Given the description of an element on the screen output the (x, y) to click on. 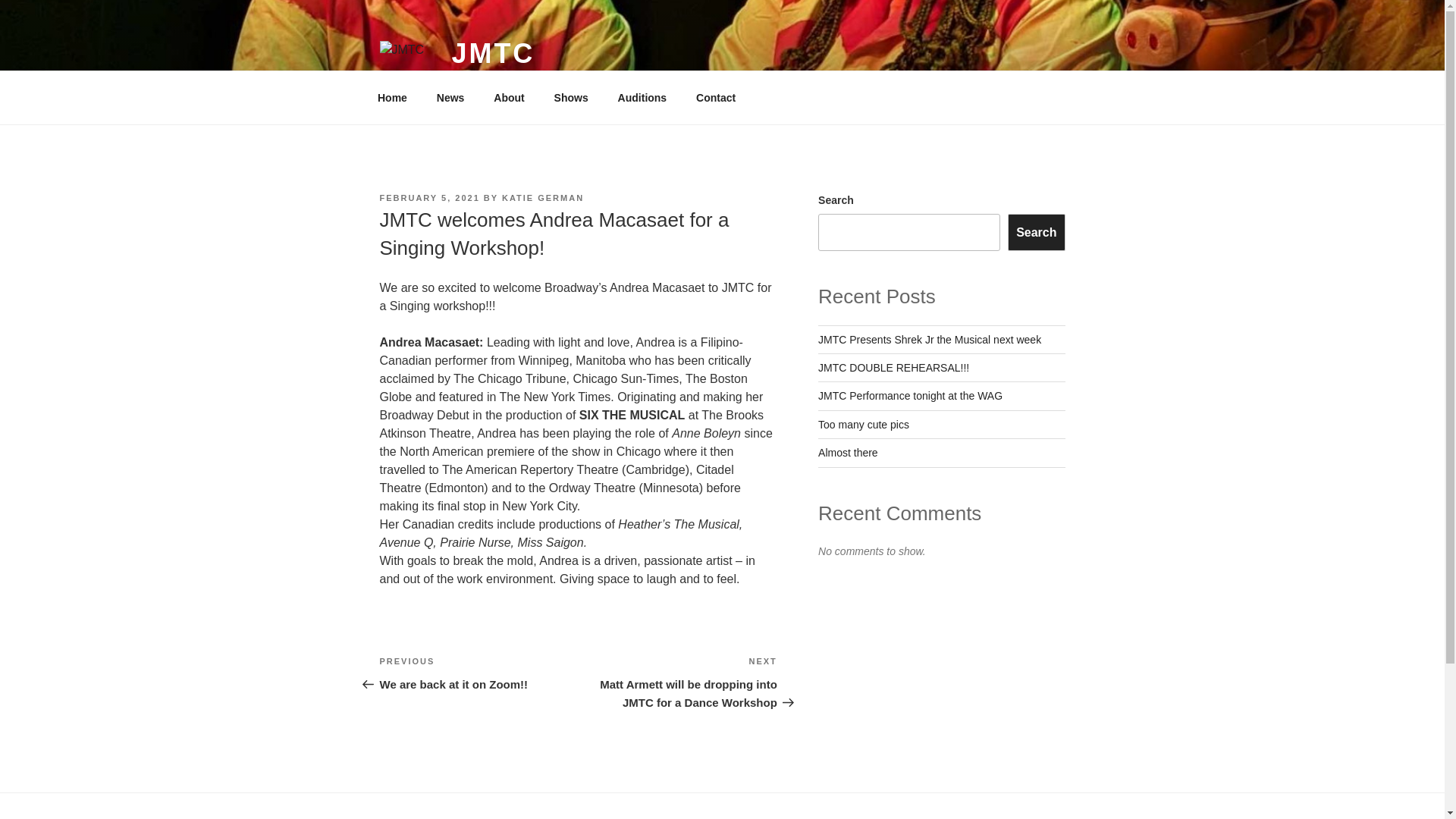
FEBRUARY 5, 2021 (428, 197)
About (508, 97)
JMTC Presents Shrek Jr the Musical next week (929, 339)
JMTC (478, 673)
Almost there (493, 52)
JMTC Performance tonight at the WAG (847, 452)
Search (910, 395)
Auditions (1035, 231)
JMTC DOUBLE REHEARSAL!!! (641, 97)
Shows (893, 367)
KATIE GERMAN (570, 97)
News (542, 197)
Too many cute pics (450, 97)
Home (863, 424)
